Given the description of an element on the screen output the (x, y) to click on. 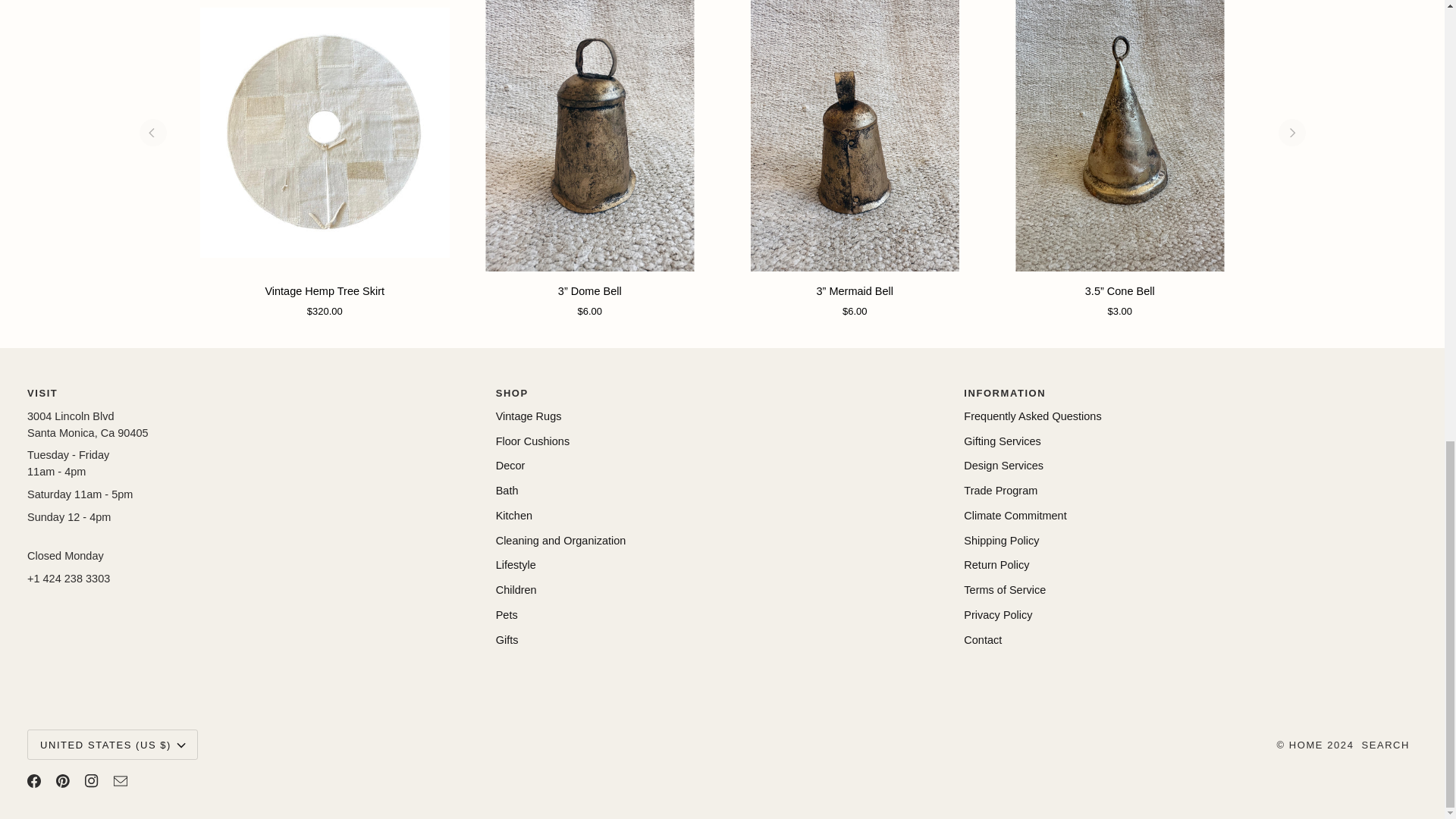
Instagram (91, 780)
Pinterest (62, 780)
Facebook (33, 780)
